Given the description of an element on the screen output the (x, y) to click on. 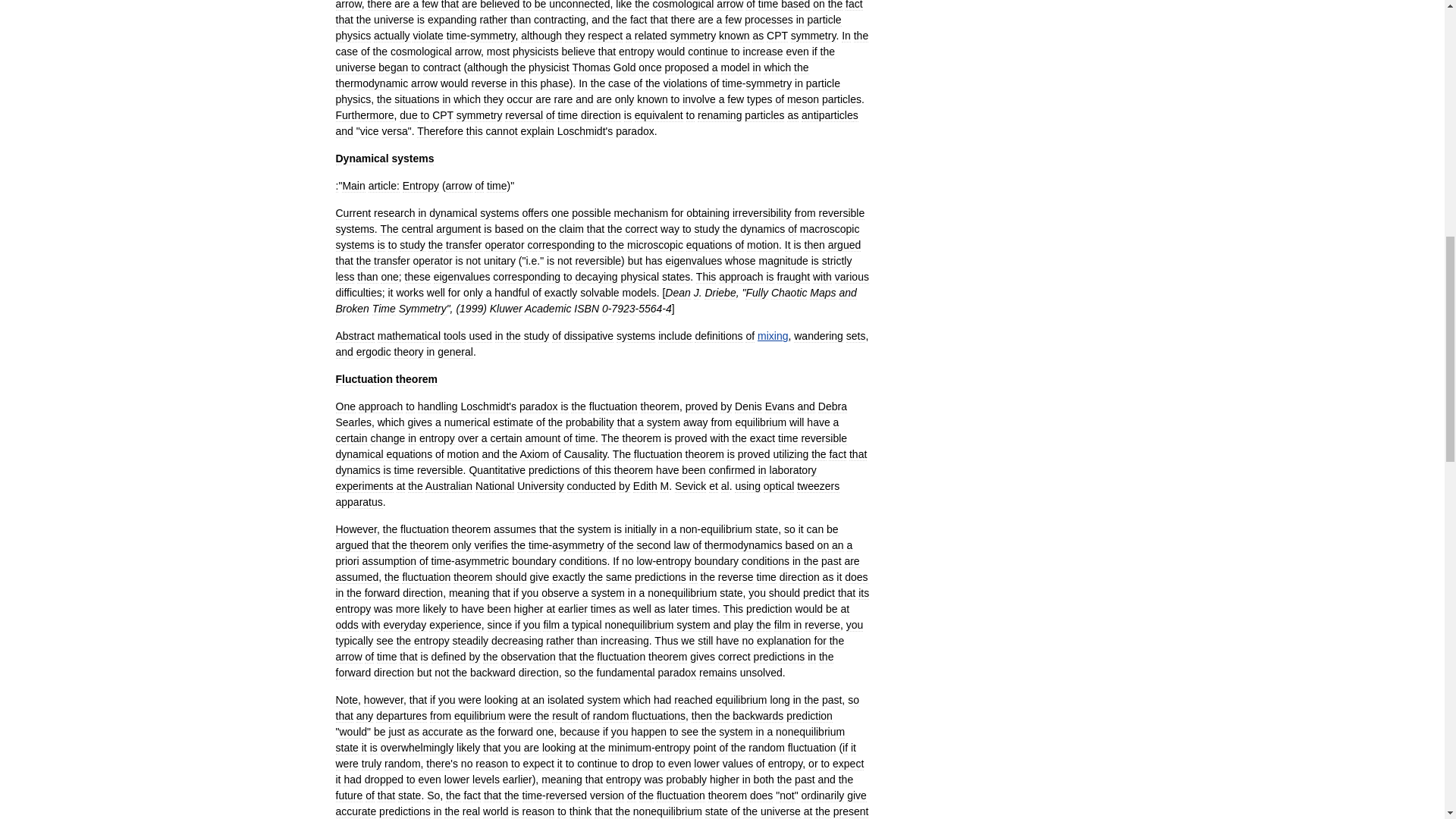
mixing (772, 336)
